Given the description of an element on the screen output the (x, y) to click on. 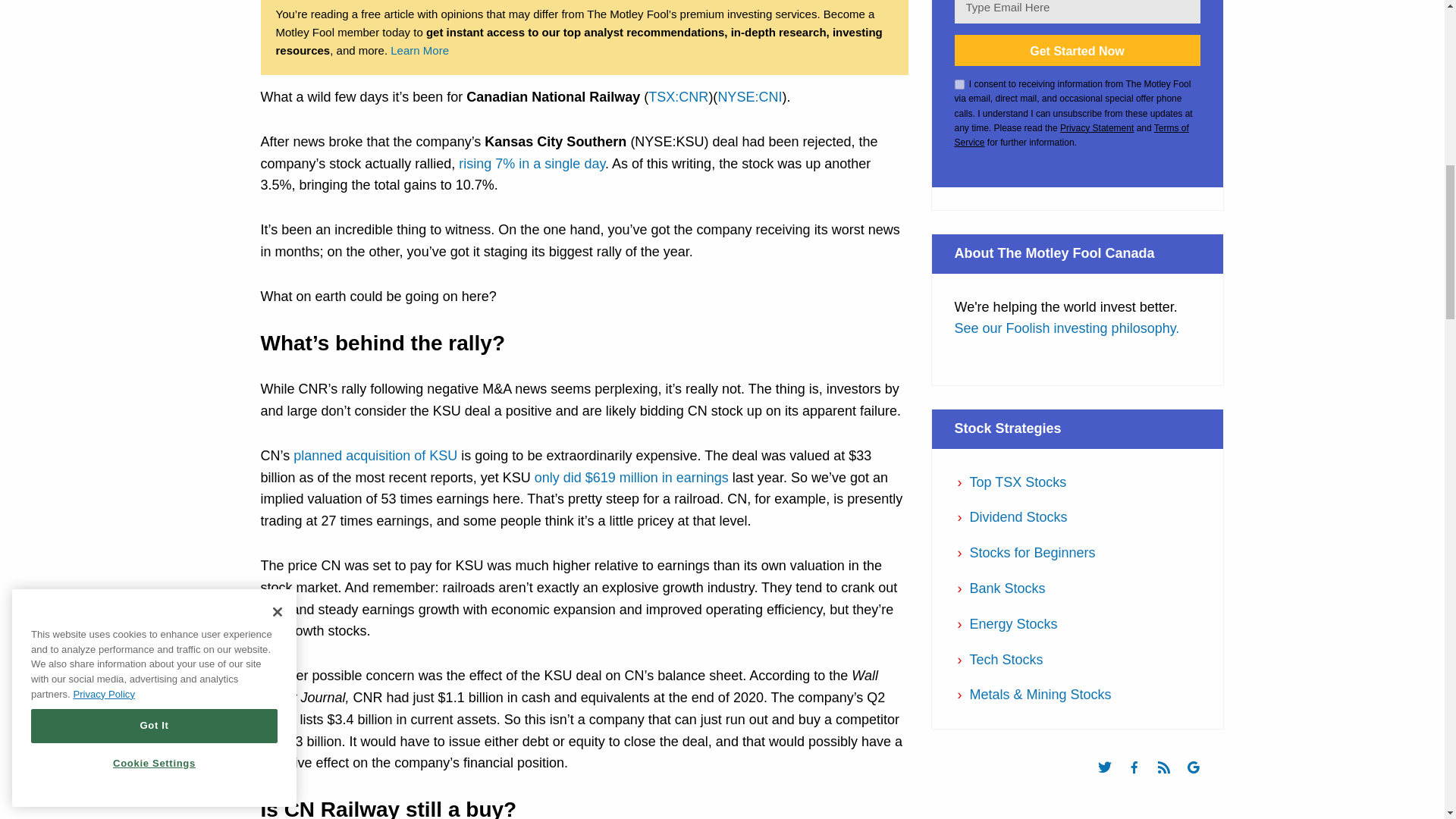
on (958, 84)
Like us on Facebook (1141, 780)
Subscribe to our feed (1171, 780)
Follow us on Twitter (1111, 780)
